Given the description of an element on the screen output the (x, y) to click on. 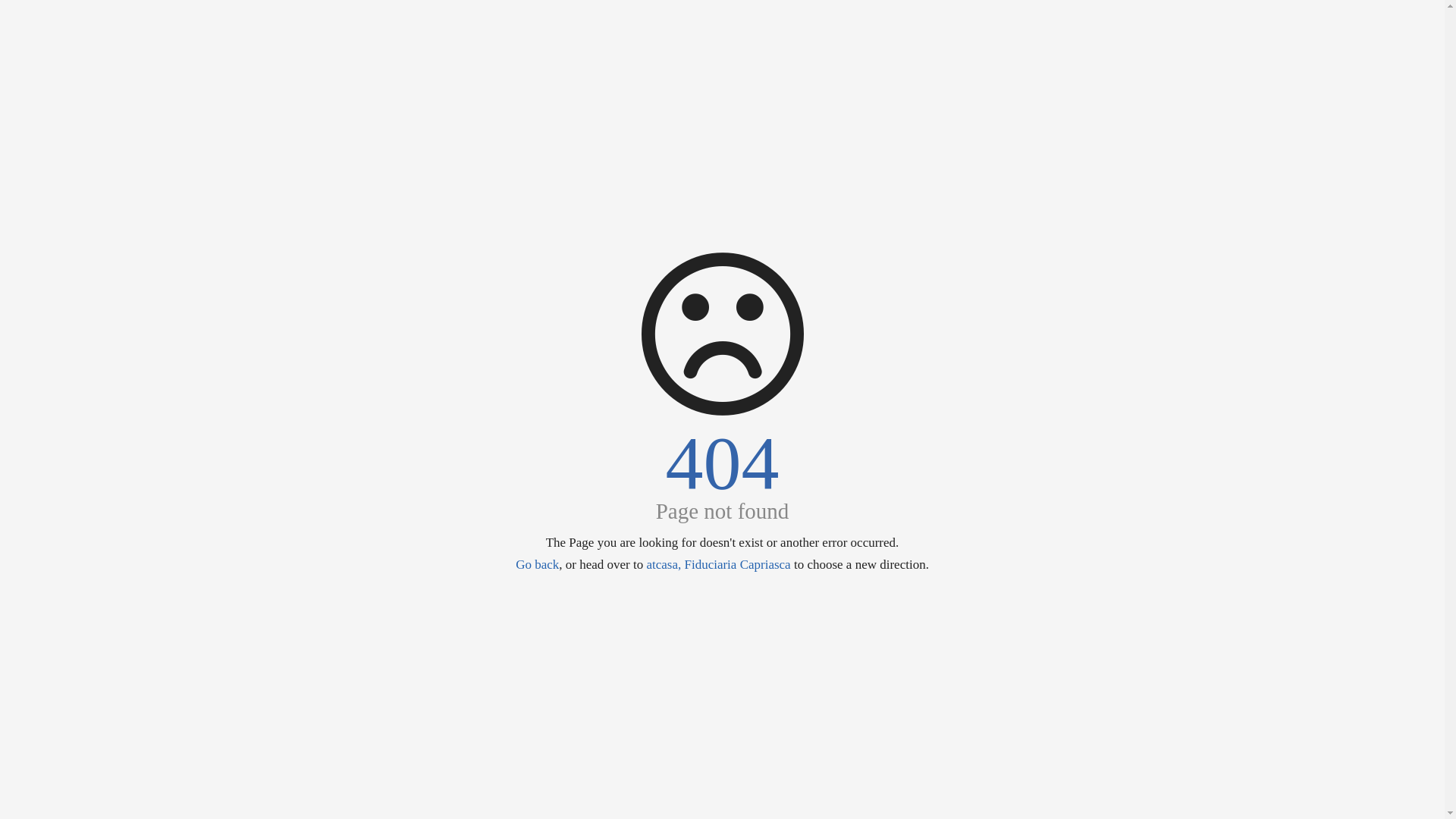
atcasa, Fiduciaria Capriasca Element type: text (718, 564)
Go back Element type: text (536, 564)
